Given the description of an element on the screen output the (x, y) to click on. 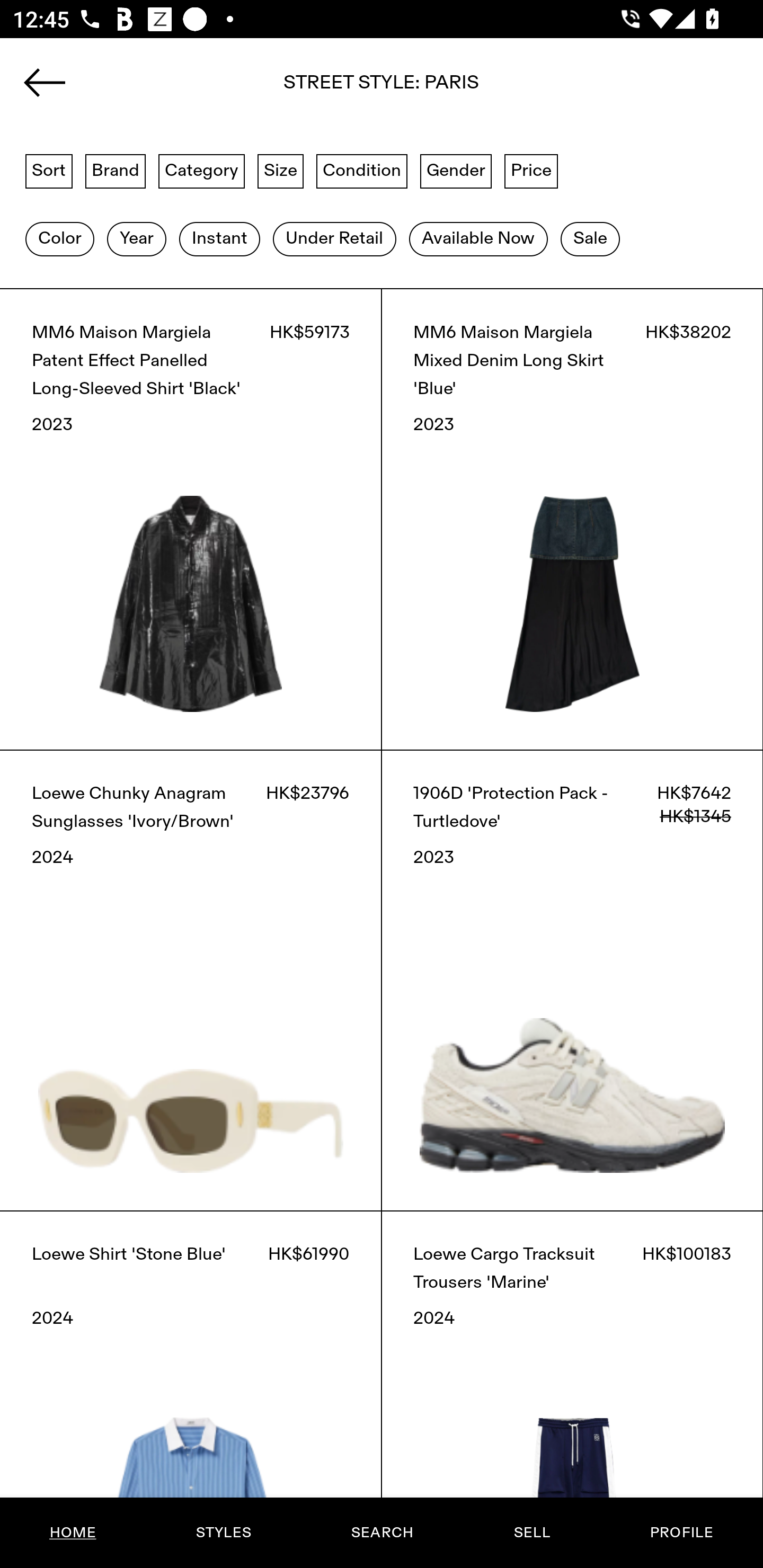
Search (381, 88)
Sort (48, 170)
Brand (115, 170)
Category (201, 170)
Size (280, 170)
Condition (361, 170)
Gender (455, 170)
Price (530, 170)
Color (59, 239)
Year (136, 239)
Instant (219, 239)
Under Retail (334, 239)
Available Now (477, 239)
Sale (589, 239)
Loewe Shirt 'Stone Blue' HK$61990 2024 (190, 1389)
HOME (72, 1532)
STYLES (222, 1532)
SEARCH (381, 1532)
SELL (531, 1532)
PROFILE (681, 1532)
